Given the description of an element on the screen output the (x, y) to click on. 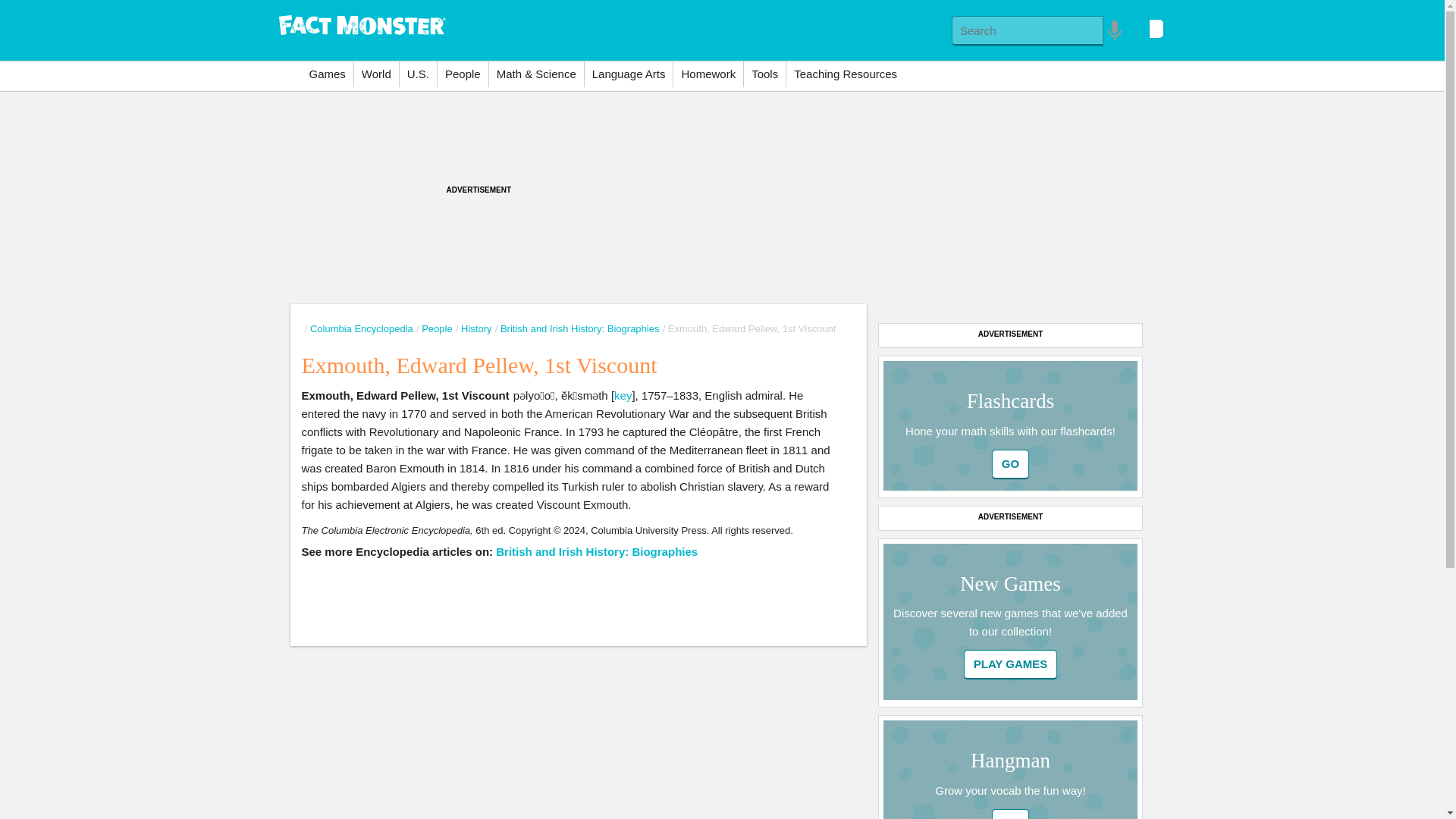
Go (1010, 814)
Enter the terms you wish to search for. (1027, 30)
Games (327, 73)
Play Games (1010, 664)
Go (1010, 464)
Go (1010, 464)
Visit our teacher resource sister site! (845, 73)
Home (362, 22)
U.S. (417, 73)
Go (1010, 814)
